Given the description of an element on the screen output the (x, y) to click on. 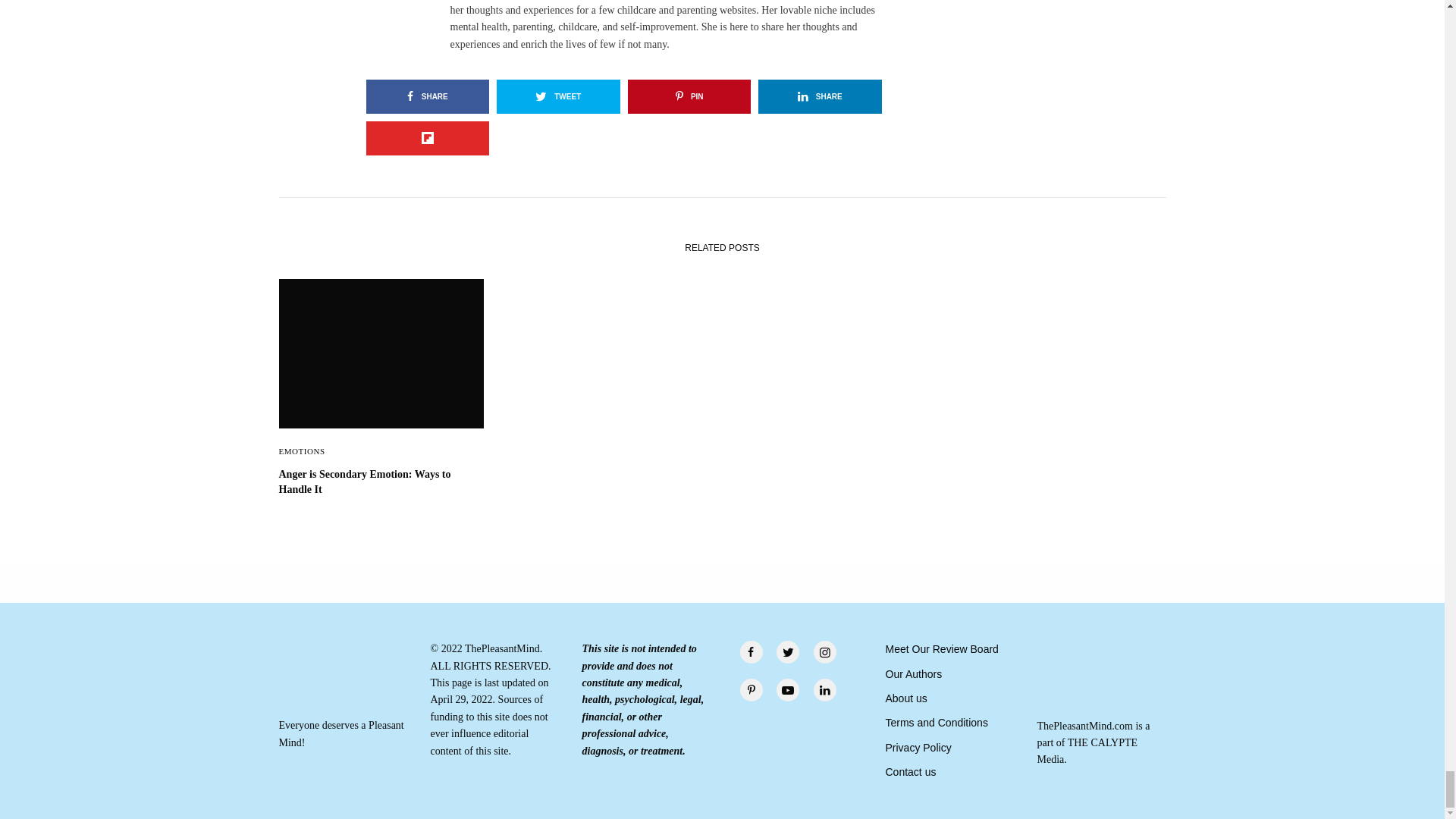
Anger is Secondary Emotion: Ways to Handle It (381, 481)
